Given the description of an element on the screen output the (x, y) to click on. 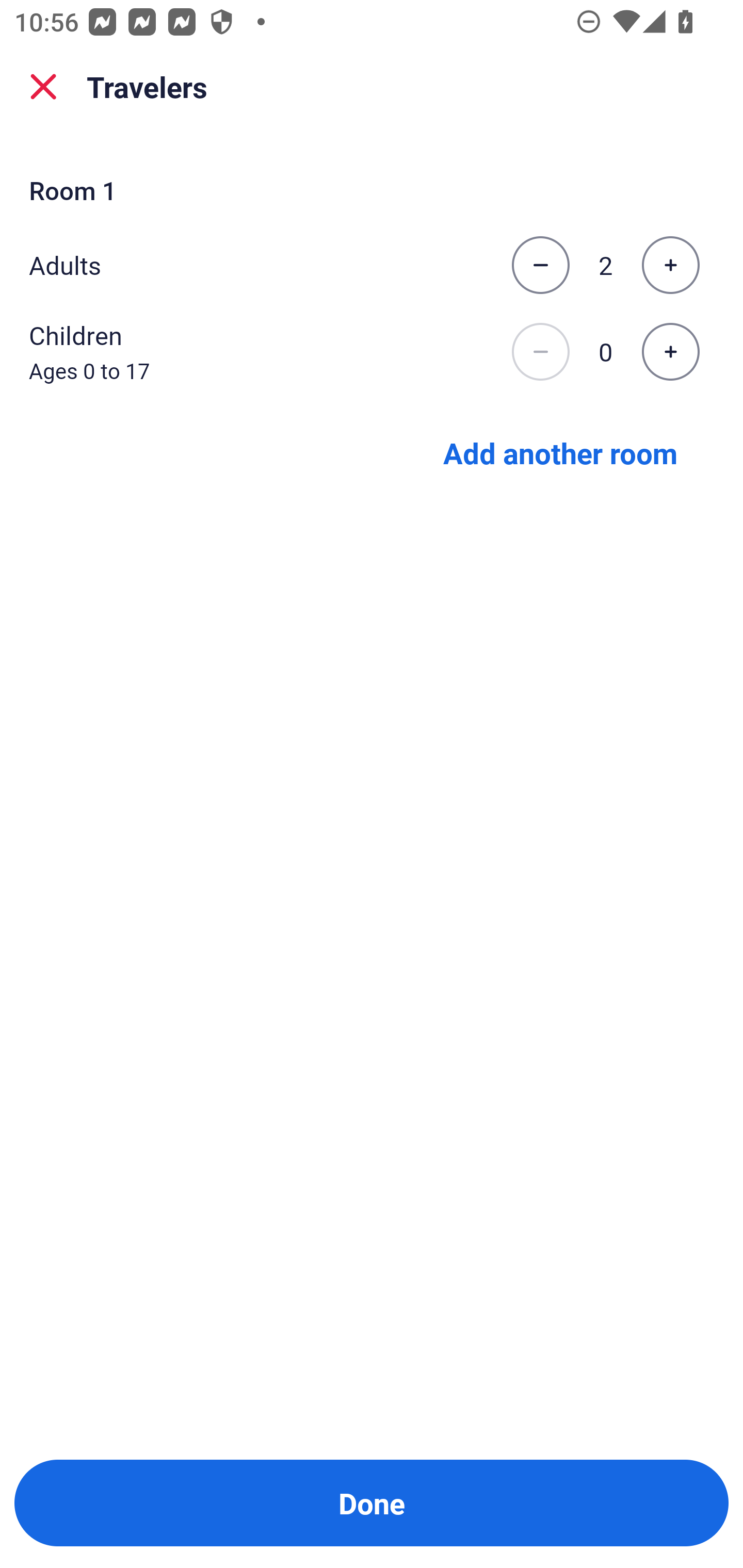
close (43, 86)
Decrease the number of adults (540, 264)
Increase the number of adults (670, 264)
Decrease the number of children (540, 351)
Increase the number of children (670, 351)
Add another room (560, 452)
Done (371, 1502)
